Given the description of an element on the screen output the (x, y) to click on. 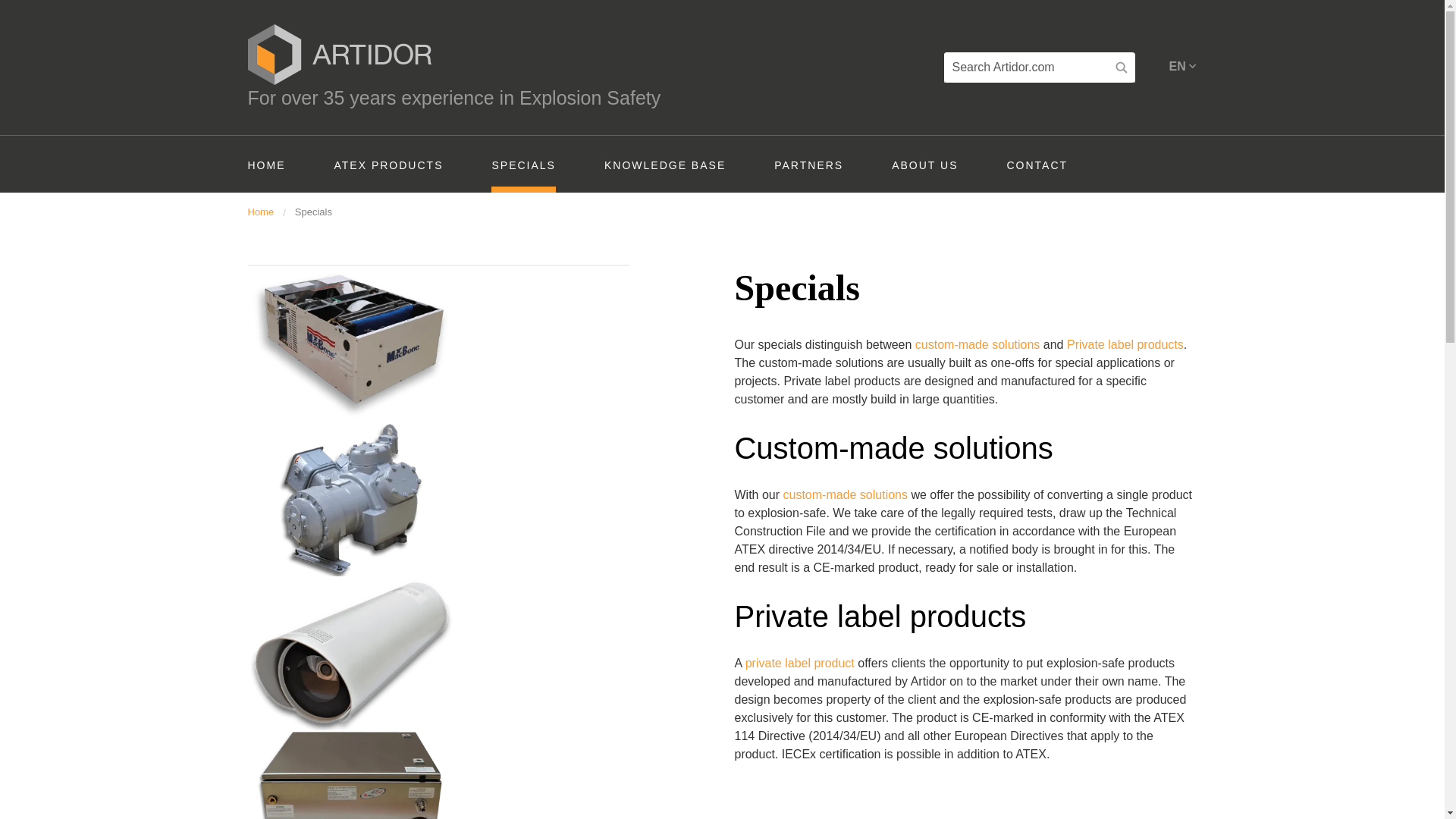
Private label product (799, 662)
EN (1182, 61)
SPECIALS (523, 165)
Home (260, 211)
HOME (266, 165)
ATEX PRODUCTS (387, 165)
